Given the description of an element on the screen output the (x, y) to click on. 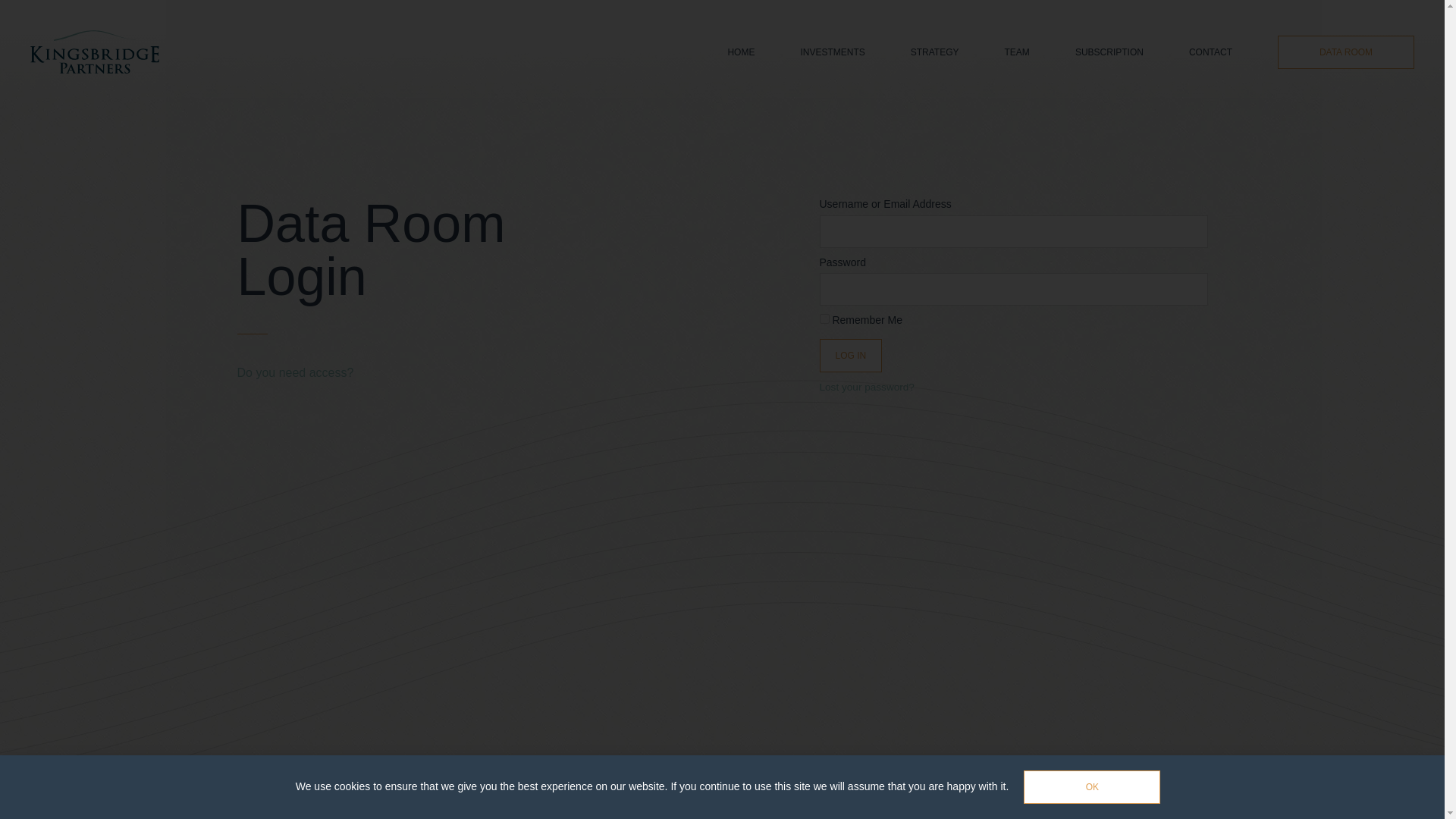
STRATEGY (935, 52)
Do you need access? (294, 372)
LOG IN (850, 355)
OK (1091, 786)
forever (823, 318)
SUBSCRIPTION (1108, 52)
DATA ROOM (1345, 52)
INVESTMENTS (831, 52)
CONTACT (1210, 52)
Lost your password? (866, 386)
